Given the description of an element on the screen output the (x, y) to click on. 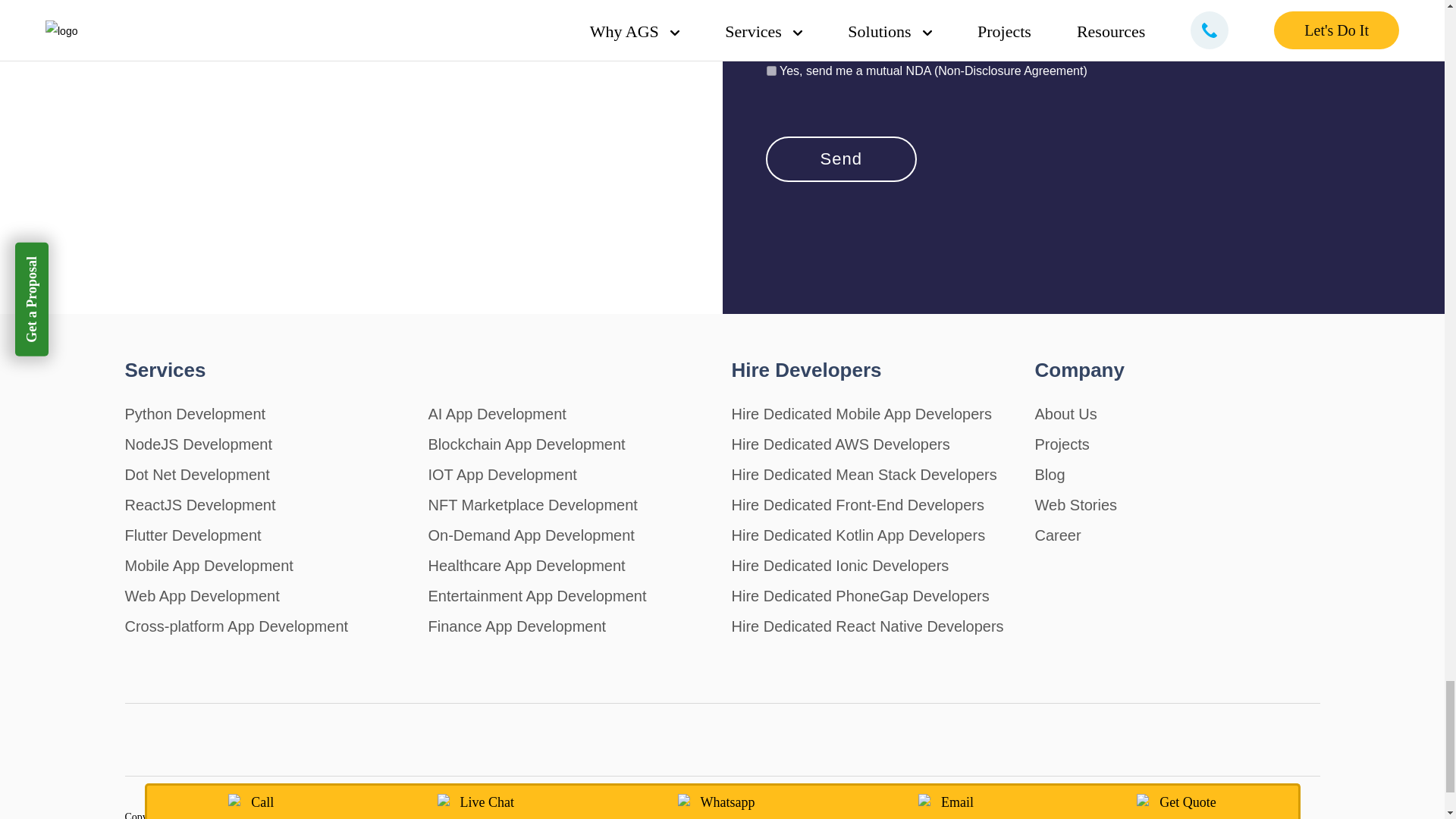
Yes (770, 71)
Send (841, 158)
